Given the description of an element on the screen output the (x, y) to click on. 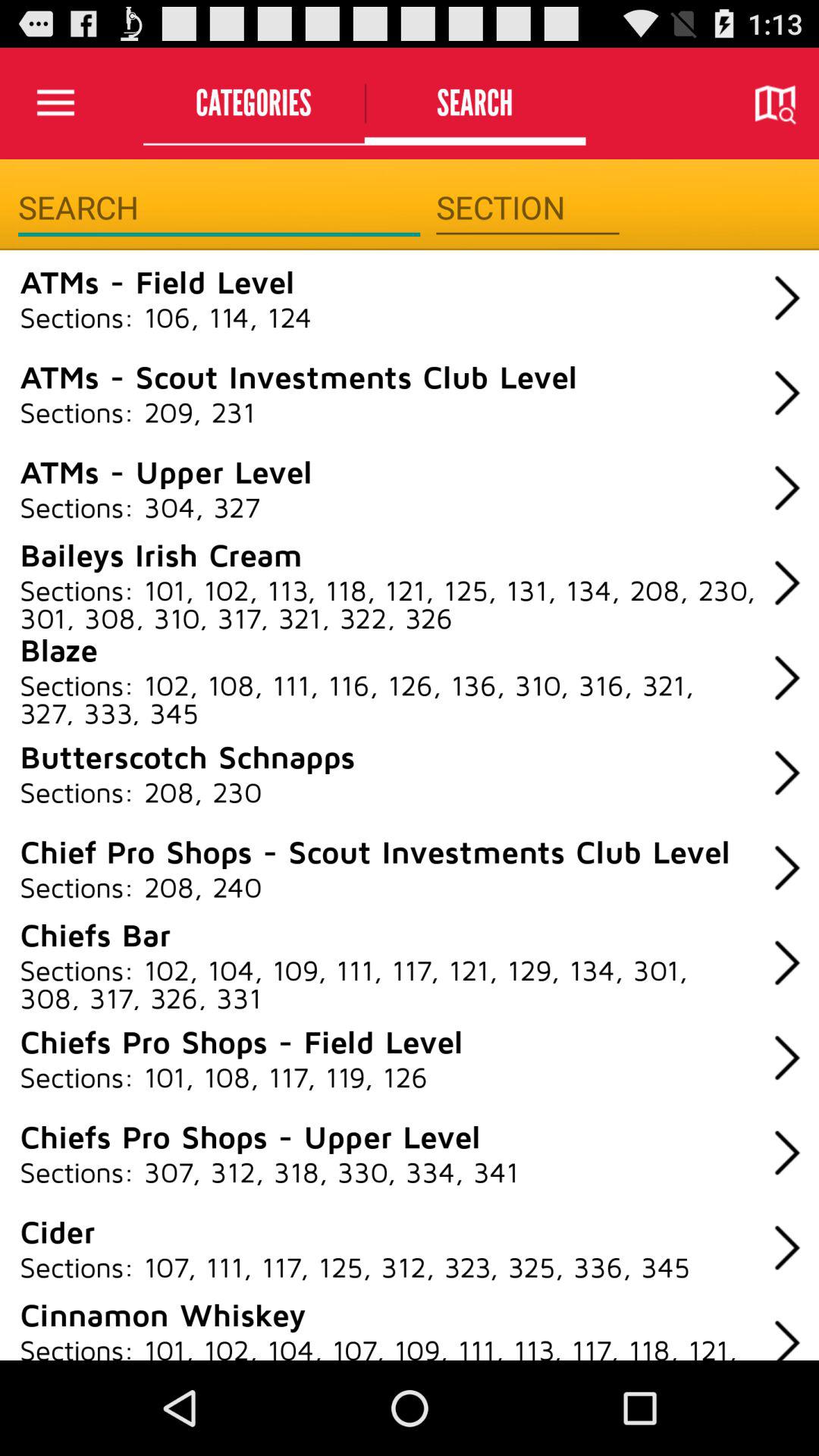
flip to the categories icon (253, 103)
